Given the description of an element on the screen output the (x, y) to click on. 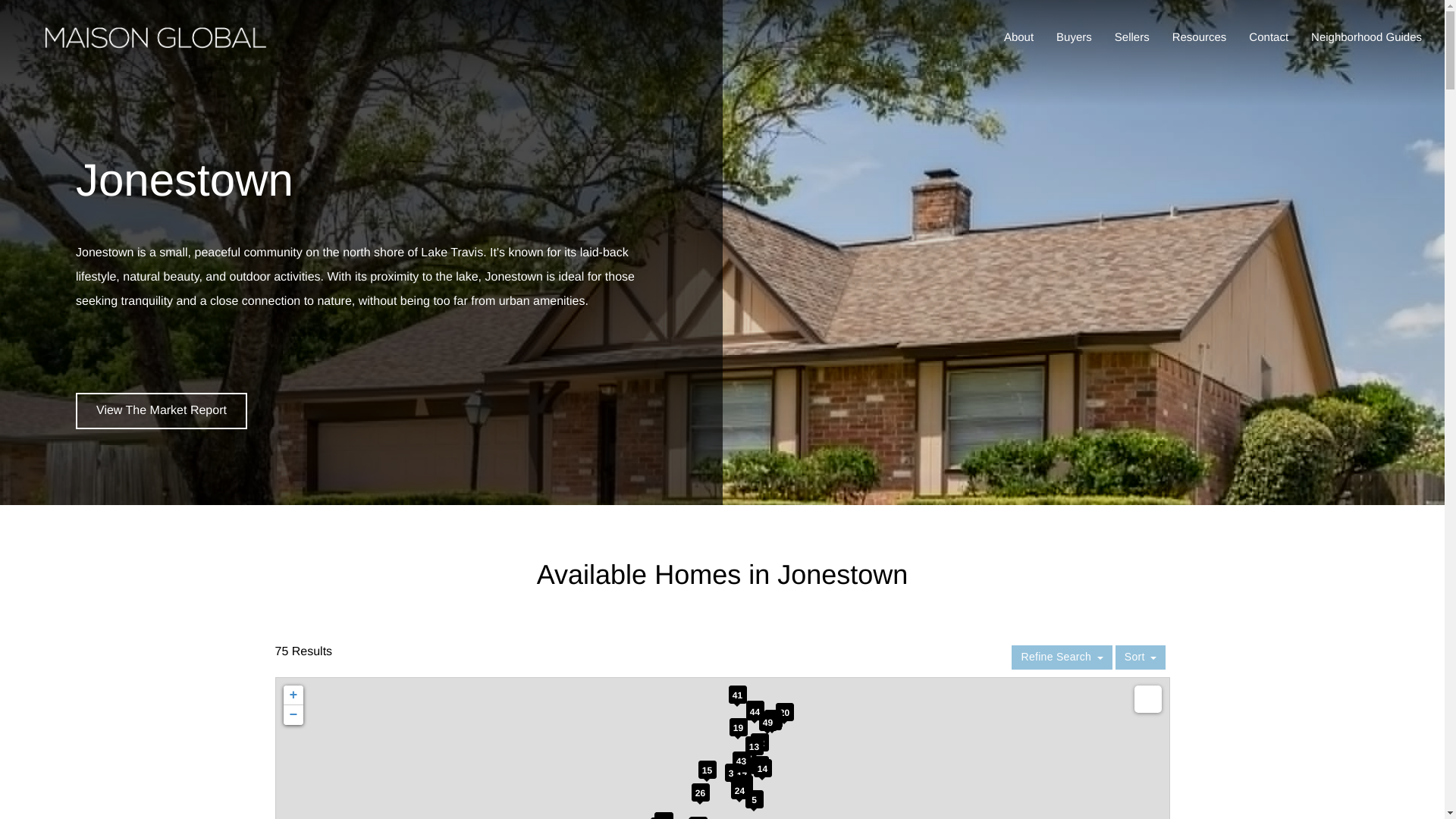
Neighborhood Guides (1370, 38)
Zoom in (292, 693)
Resources (1202, 38)
Layers (1147, 697)
Zoom out (292, 713)
